Given the description of an element on the screen output the (x, y) to click on. 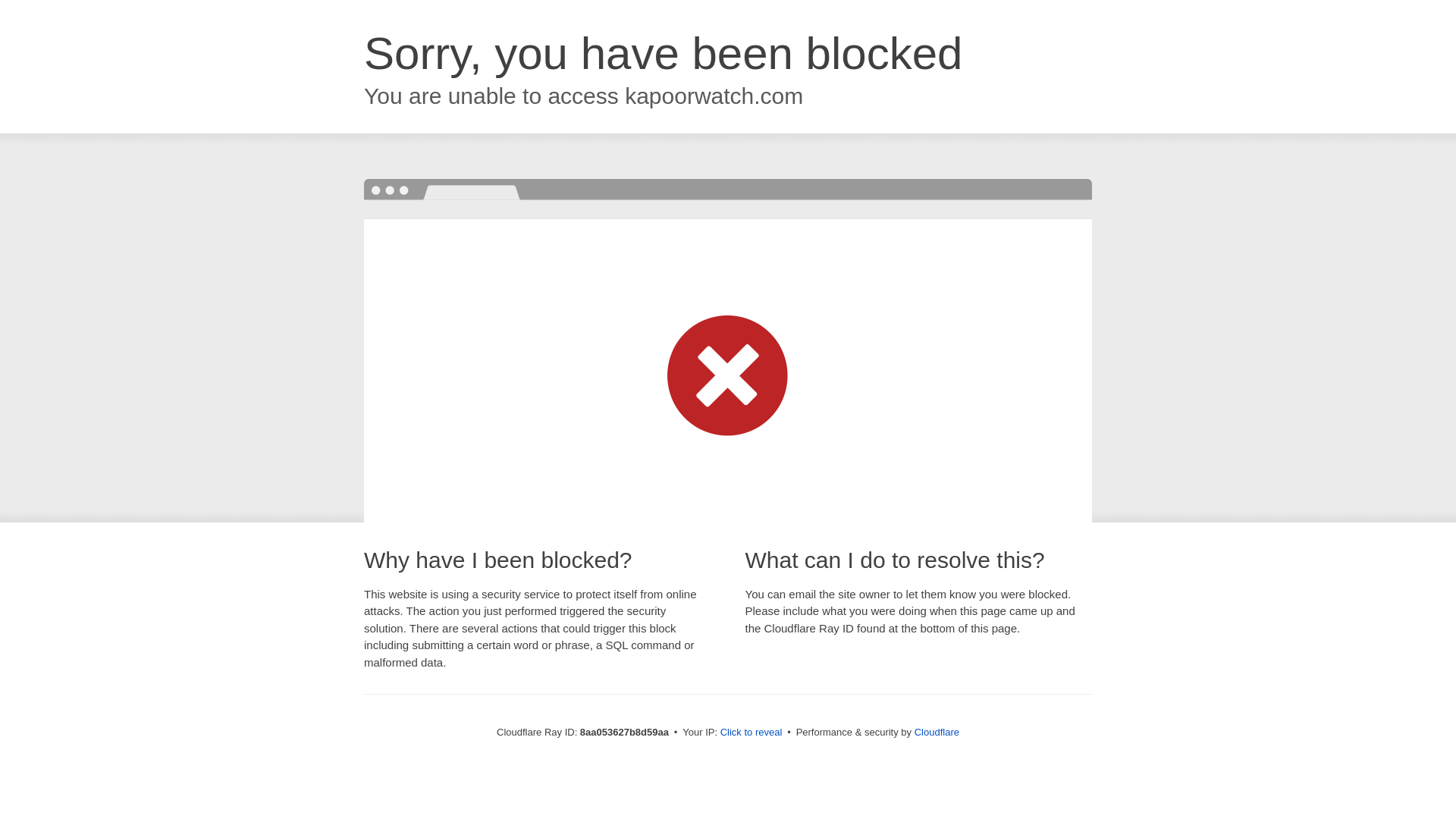
Cloudflare (936, 731)
Click to reveal (751, 732)
